Given the description of an element on the screen output the (x, y) to click on. 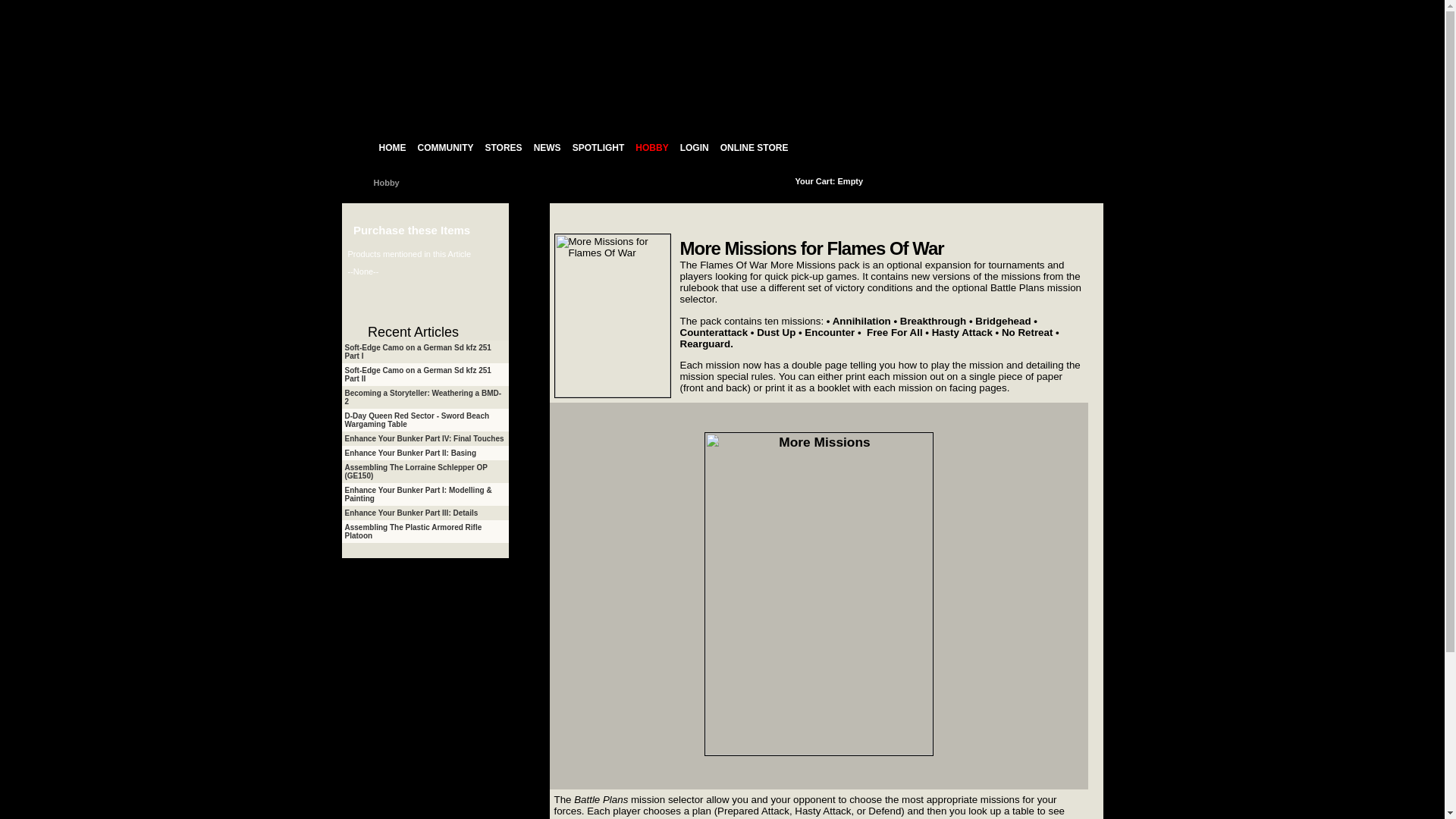
STORES (503, 151)
ONLINE STORE (753, 151)
LOGIN (694, 151)
HOME (391, 151)
SPOTLIGHT (598, 151)
NEWS (547, 151)
COMMUNITY (445, 151)
HOBBY (651, 151)
